Given the description of an element on the screen output the (x, y) to click on. 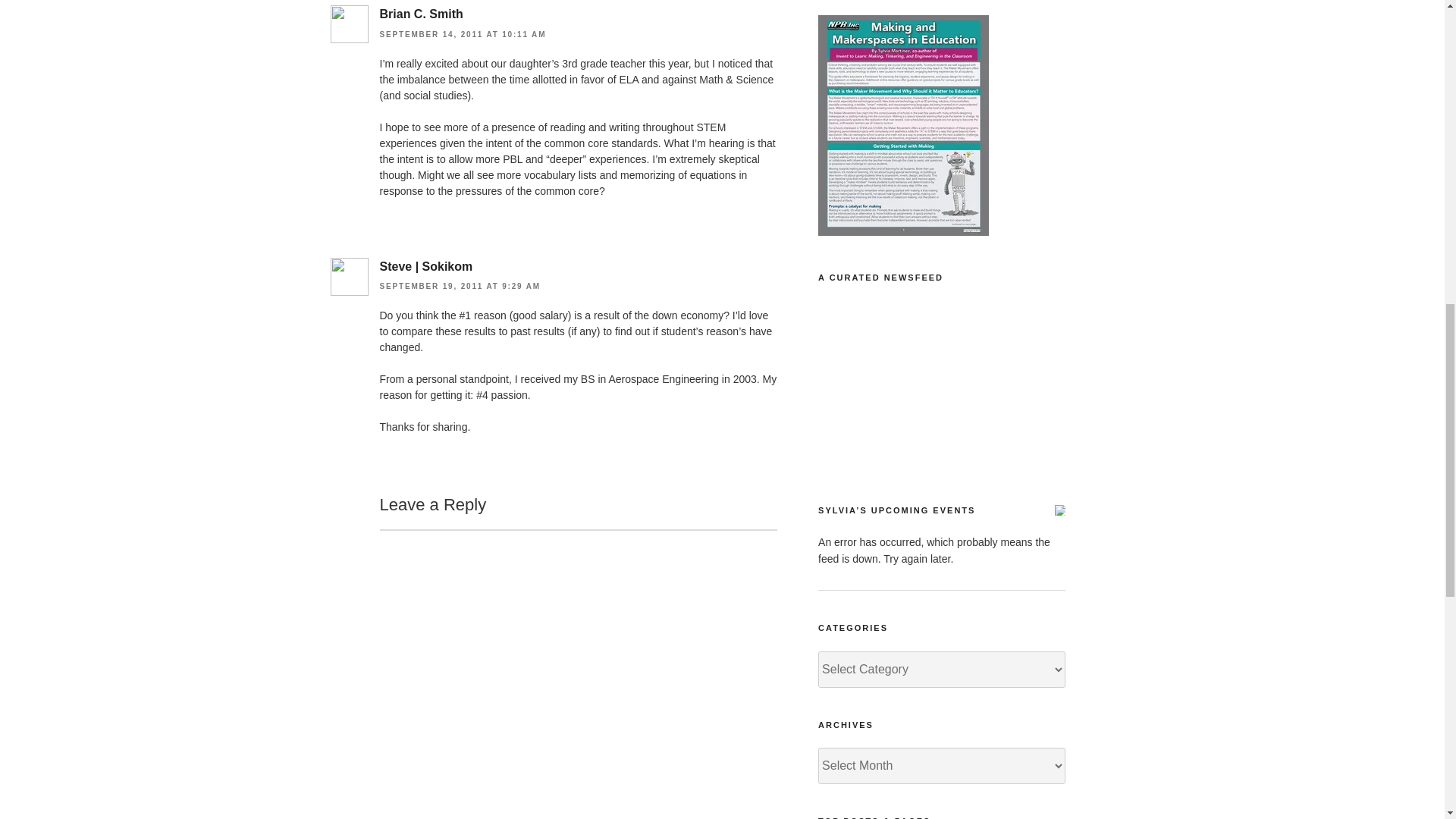
Comment Form (577, 674)
Brian C. Smith (420, 13)
SEPTEMBER 14, 2011 AT 10:11 AM (462, 34)
SEPTEMBER 19, 2011 AT 9:29 AM (459, 285)
